Given the description of an element on the screen output the (x, y) to click on. 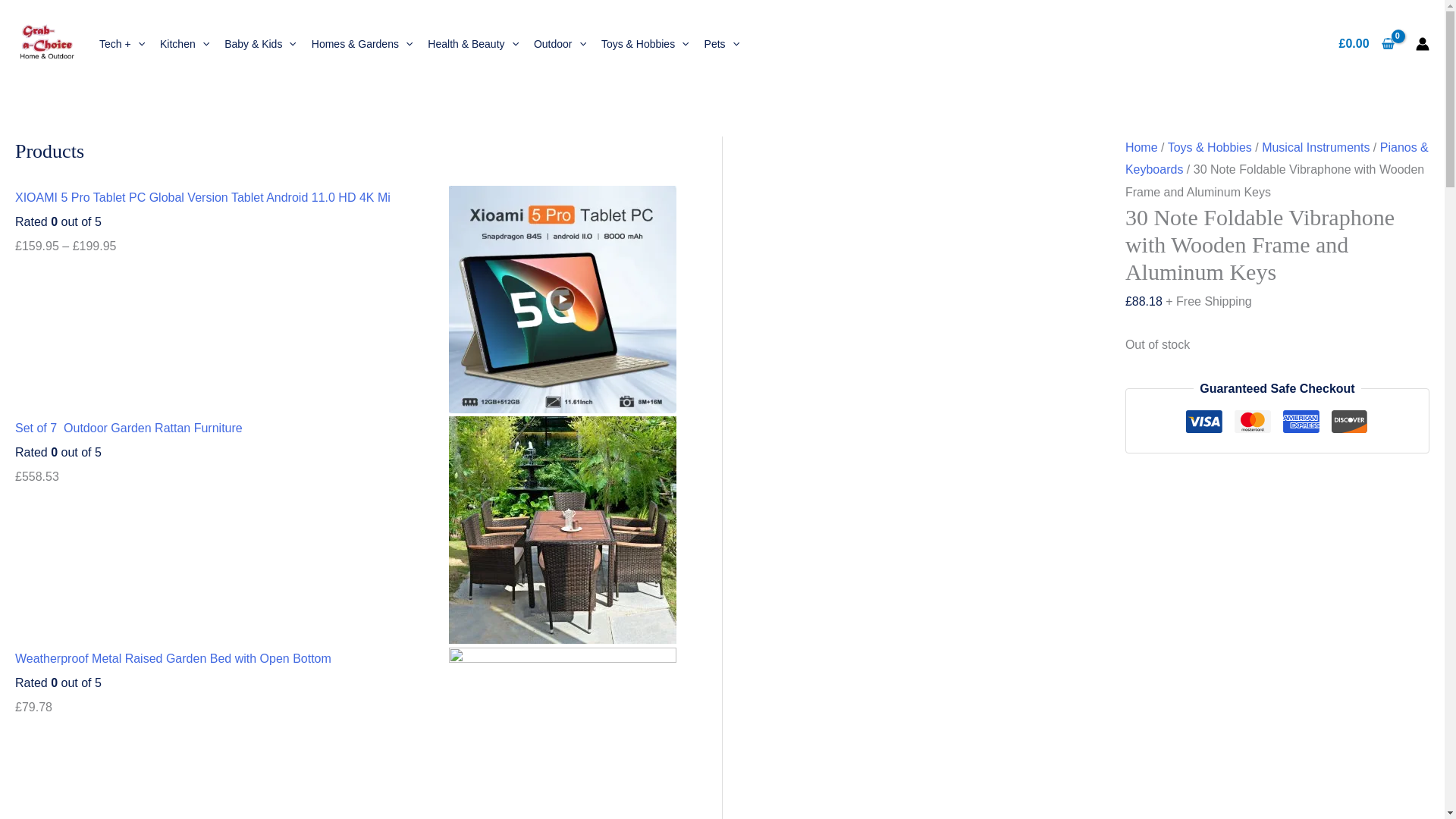
Kitchen (184, 44)
